Given the description of an element on the screen output the (x, y) to click on. 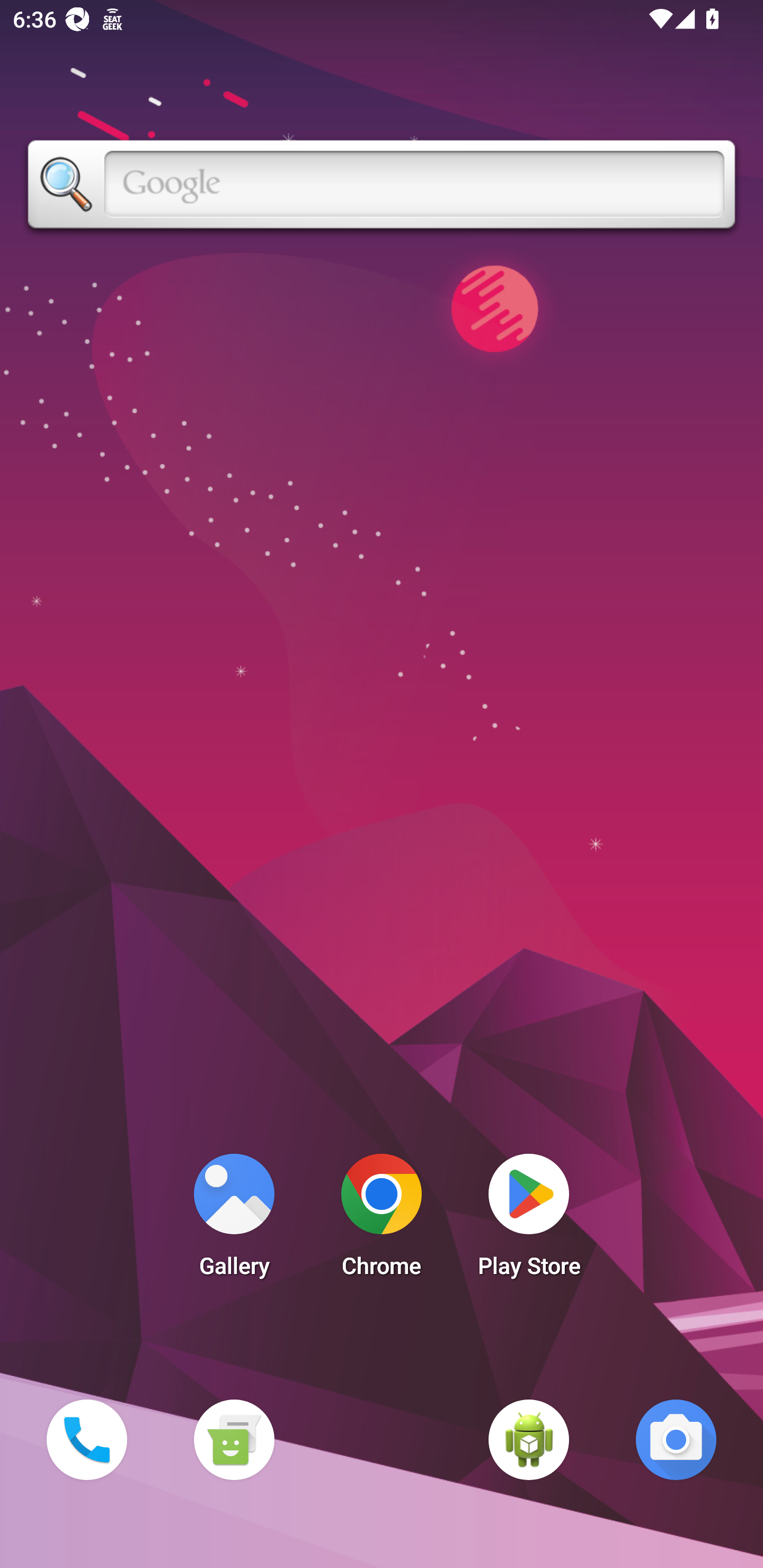
Gallery (233, 1220)
Chrome (381, 1220)
Play Store (528, 1220)
Phone (86, 1439)
Messaging (233, 1439)
WebView Browser Tester (528, 1439)
Camera (676, 1439)
